Given the description of an element on the screen output the (x, y) to click on. 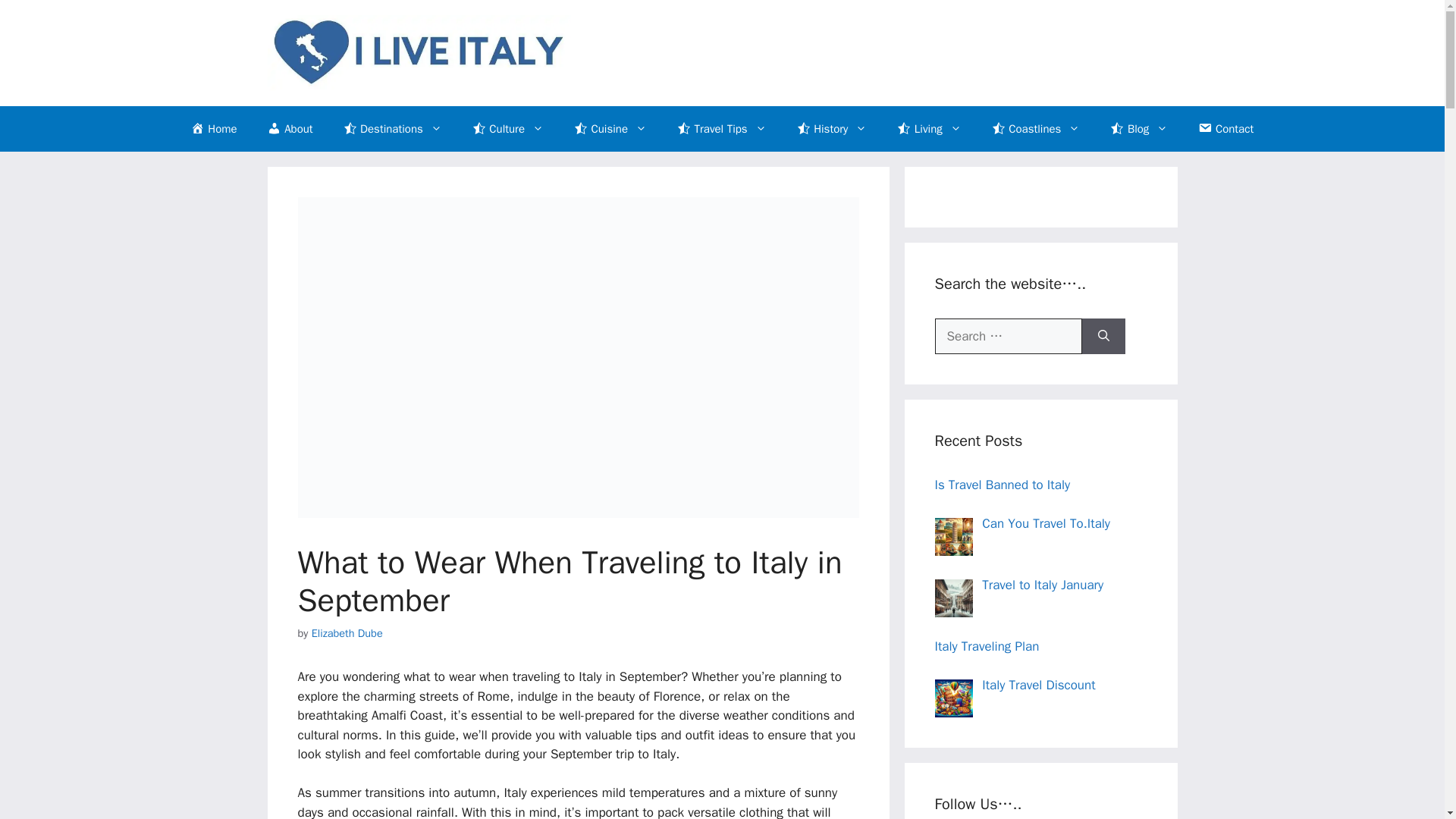
View all posts by Elizabeth Dube (346, 632)
